Given the description of an element on the screen output the (x, y) to click on. 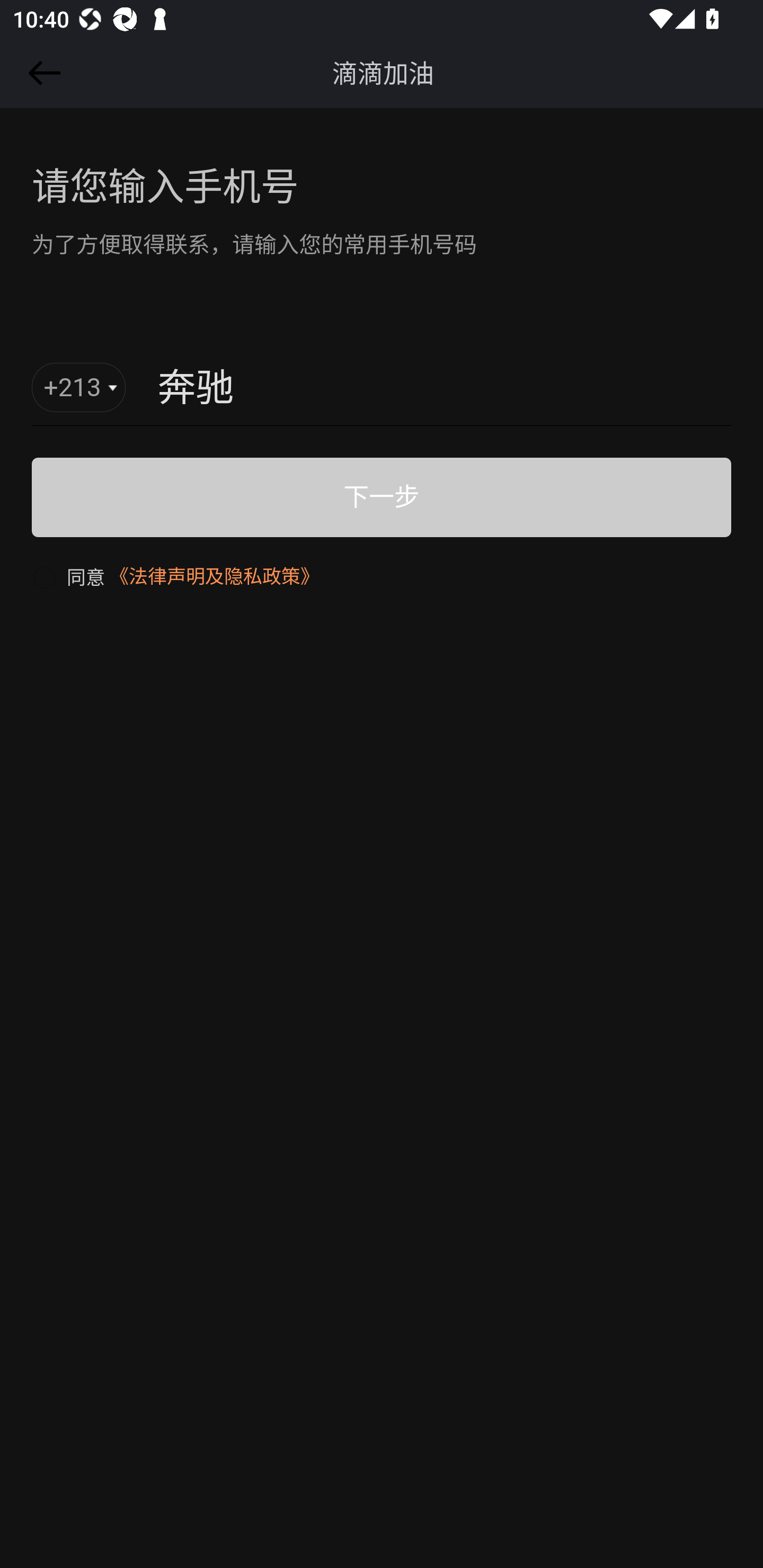
 (41, 72)
+213 (79, 387)
奔驰 (402, 388)
下一步 (381, 496)
同意 (68, 576)
《法律声明及隐私政策》 (213, 576)
